Given the description of an element on the screen output the (x, y) to click on. 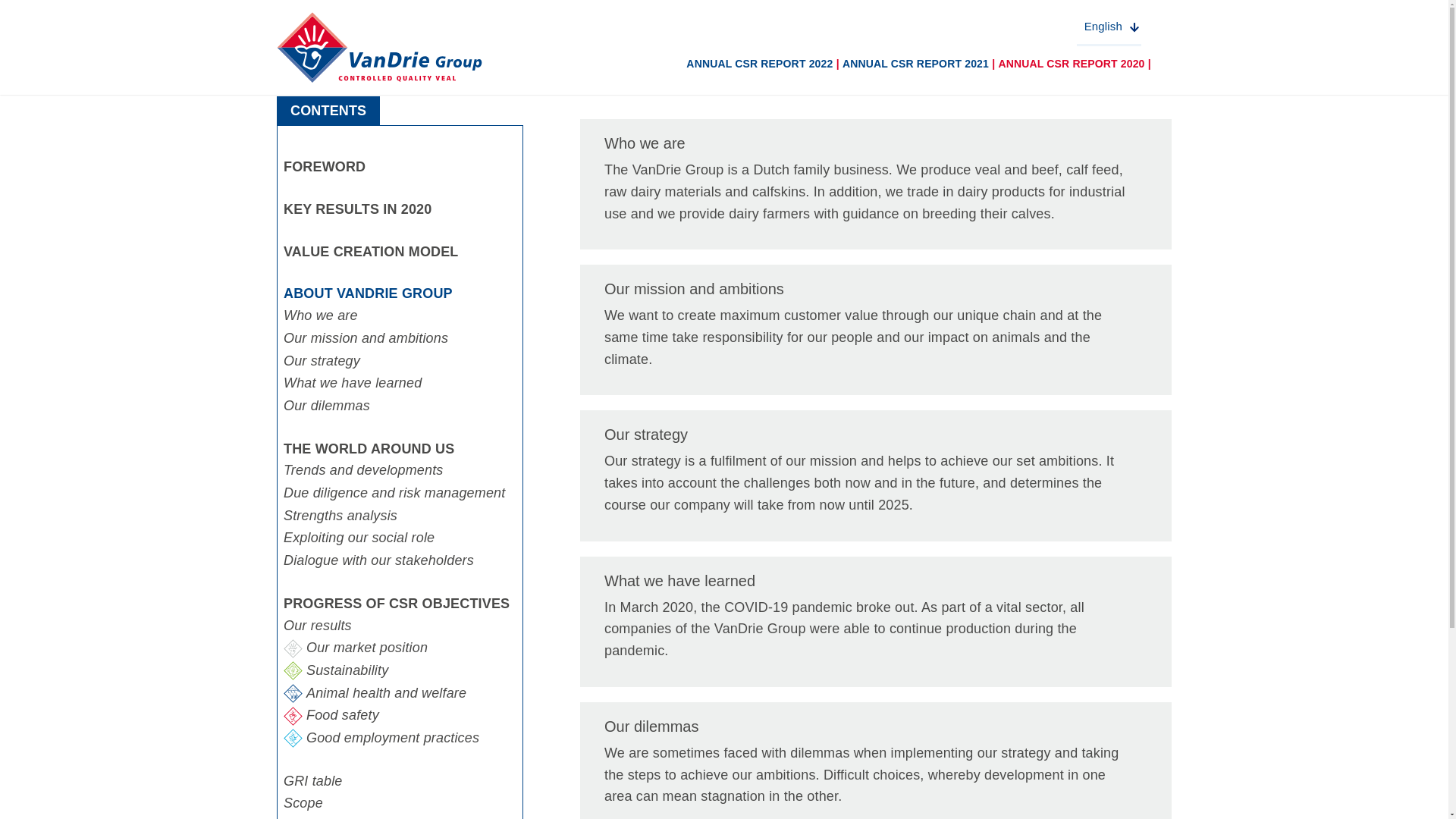
FOREWORD (399, 167)
ANNUAL CSR REPORT 2020 (1070, 63)
Our dilemmas (399, 405)
Our mission and ambitions (875, 329)
PROGRESS OF CSR OBJECTIVES (399, 603)
Our market position (399, 648)
Due diligence and risk management (399, 493)
Our strategy (875, 475)
Animal health and welfare (399, 693)
